Given the description of an element on the screen output the (x, y) to click on. 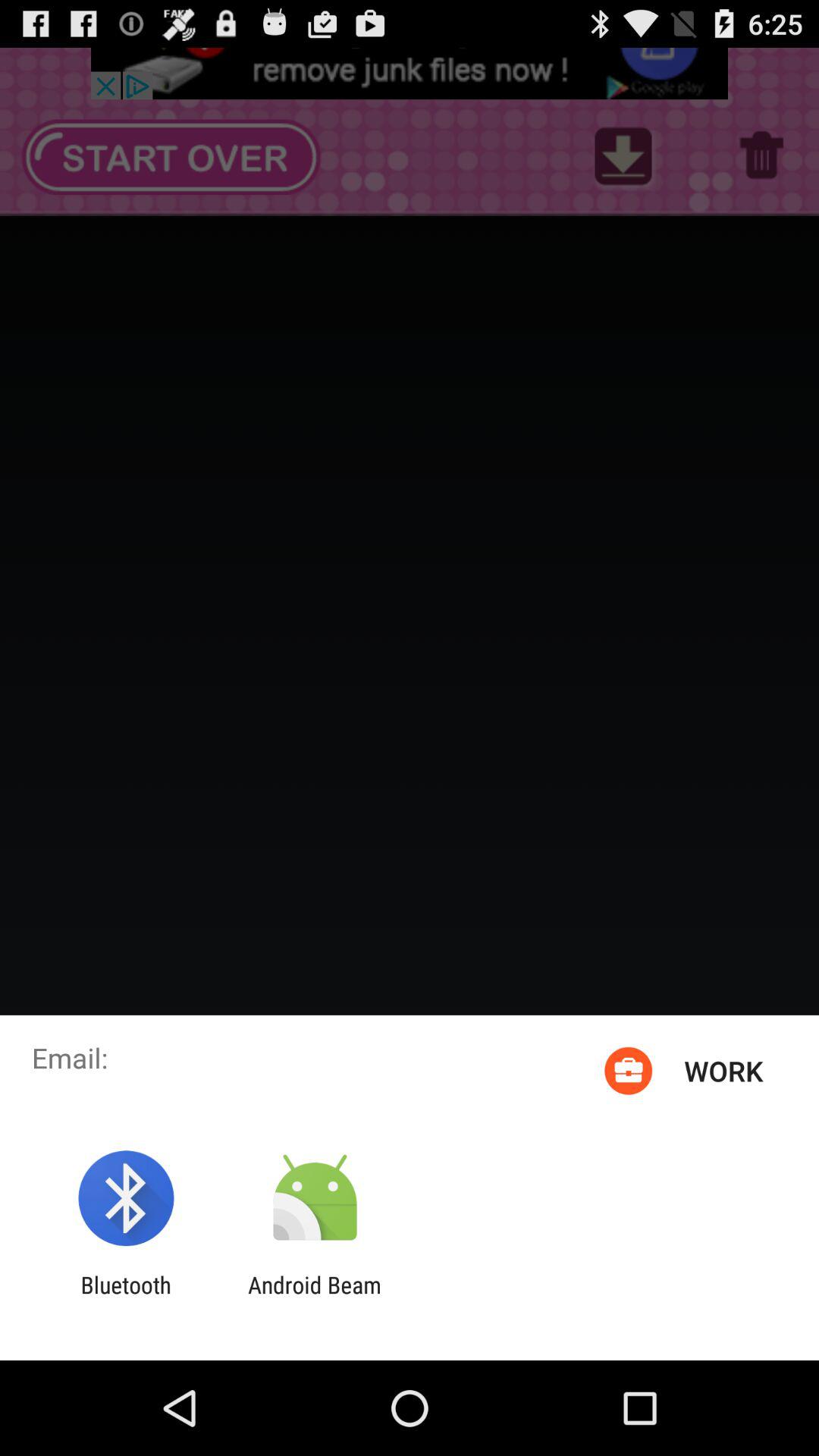
choose item next to the android beam app (125, 1298)
